Given the description of an element on the screen output the (x, y) to click on. 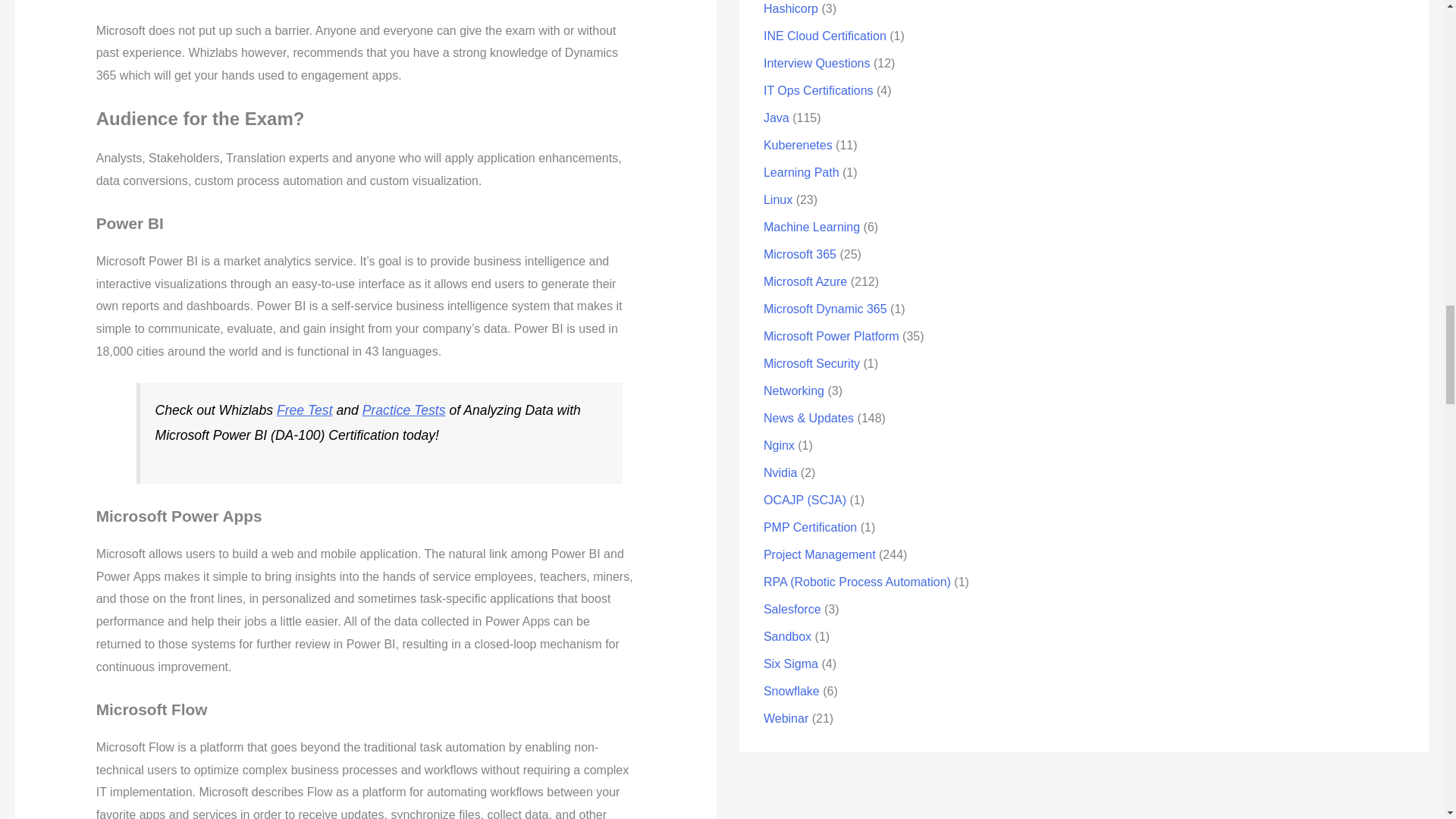
Free Test (304, 409)
